Given the description of an element on the screen output the (x, y) to click on. 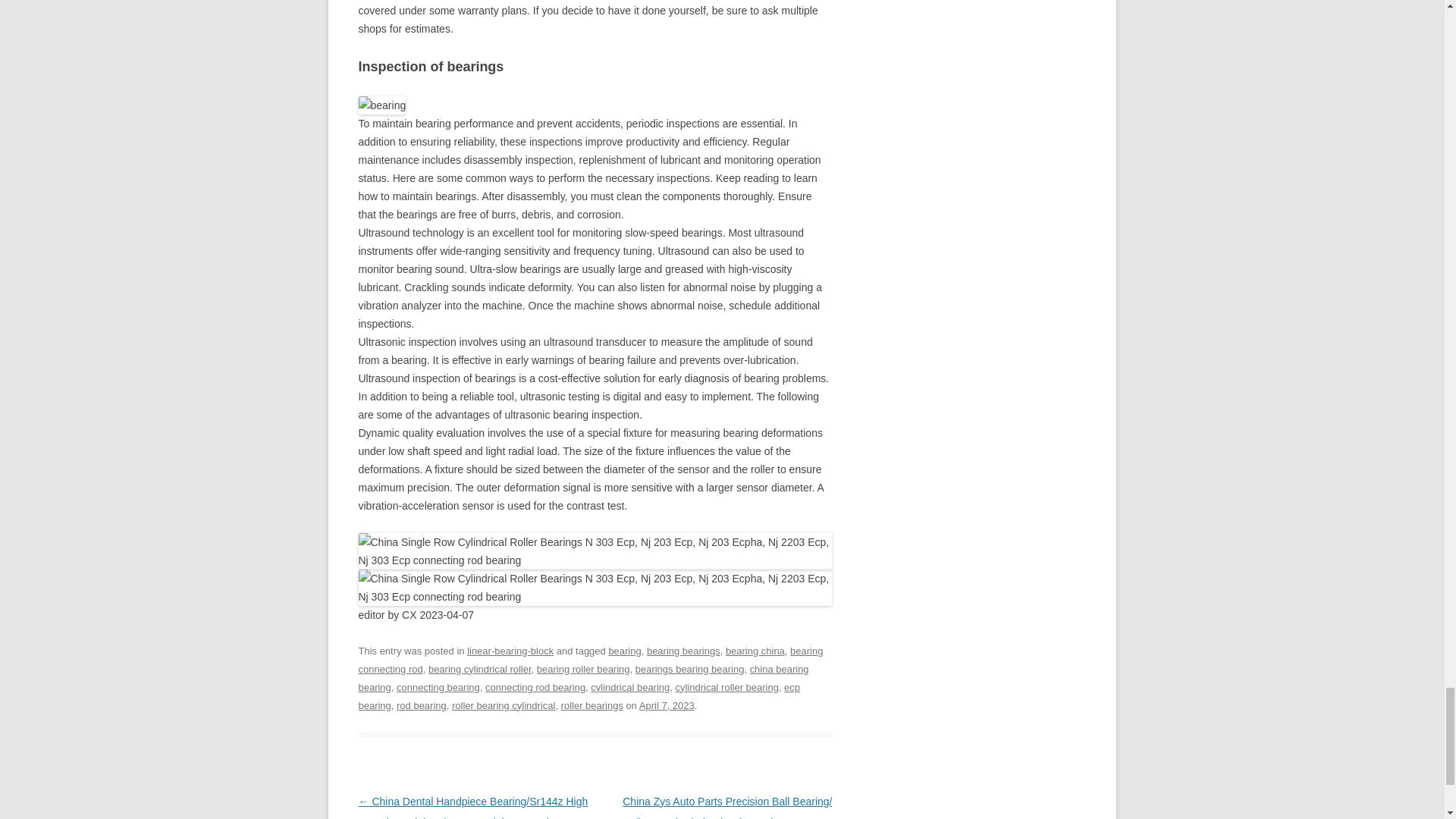
cylindrical bearing (630, 686)
ecp bearing (578, 696)
roller bearings (591, 705)
connecting bearing (438, 686)
bearing bearings (683, 650)
April 7, 2023 (666, 705)
4:34 am (666, 705)
connecting rod bearing (534, 686)
bearing cylindrical roller (479, 668)
bearing (624, 650)
